Given the description of an element on the screen output the (x, y) to click on. 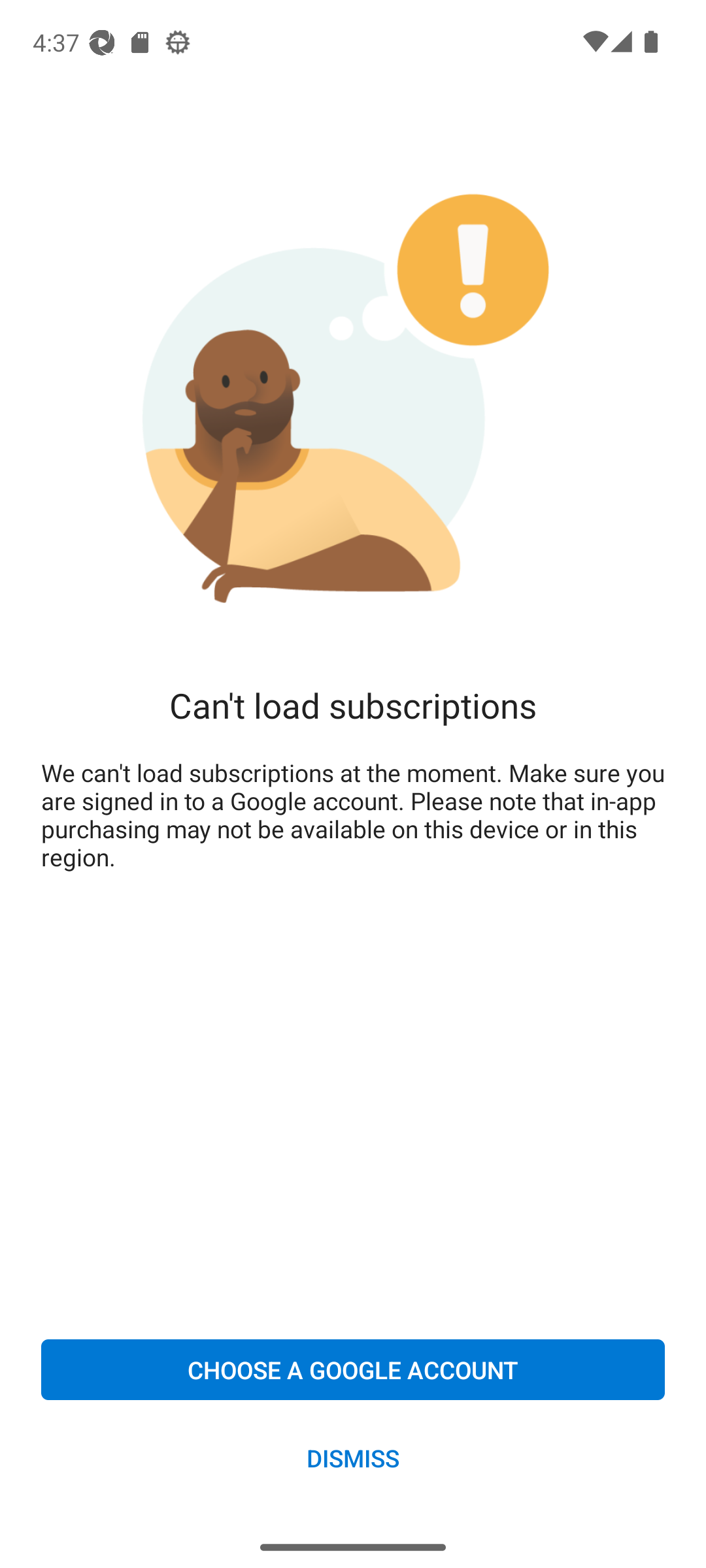
CHOOSE A GOOGLE ACCOUNT (352, 1369)
DISMISS (352, 1457)
